Given the description of an element on the screen output the (x, y) to click on. 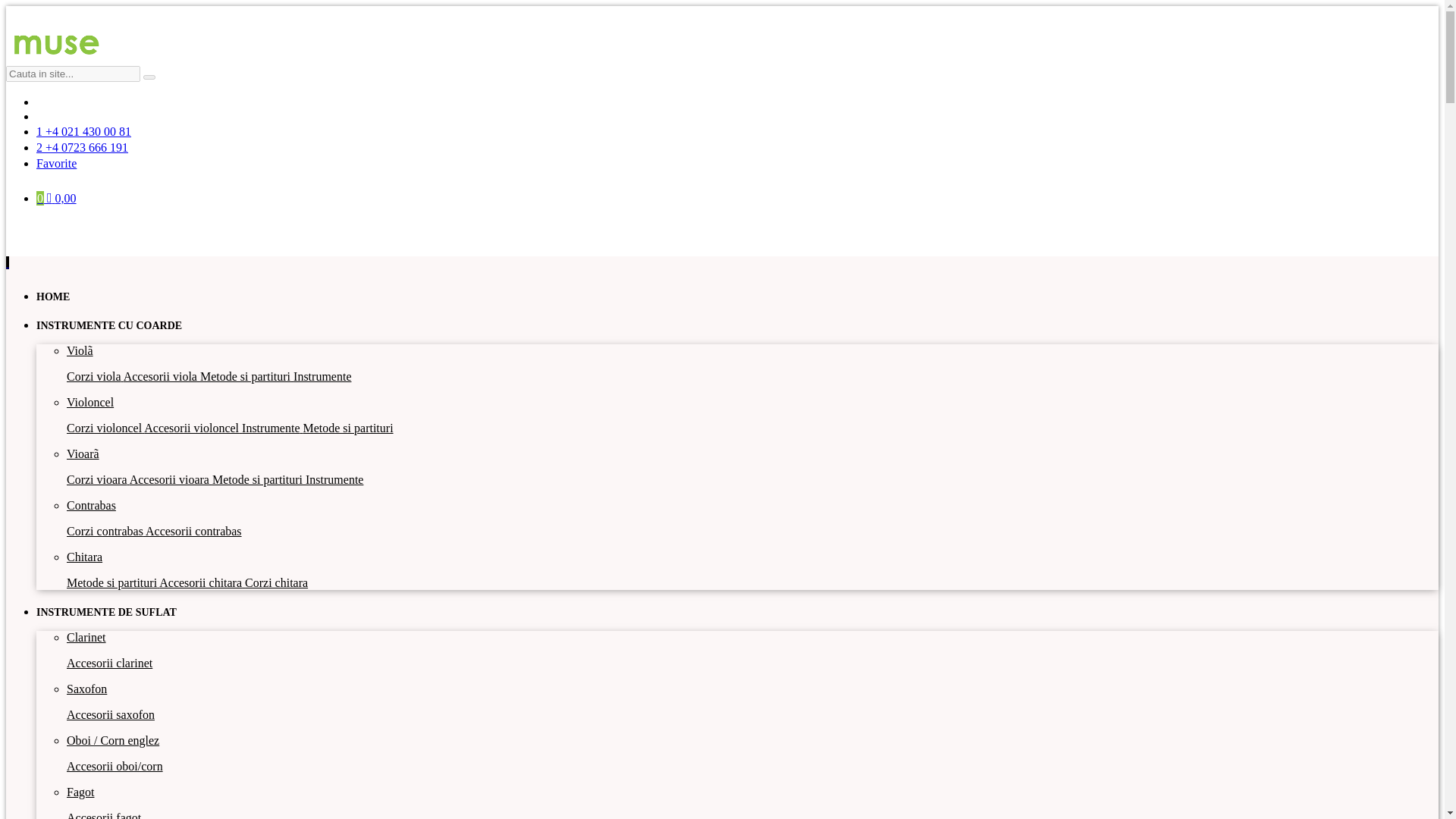
Corzi violoncel (105, 427)
0 0,00 (56, 197)
Accesorii saxofon (110, 714)
HOME (52, 296)
INSTRUMENTE CU COARDE (109, 325)
Contrabas (91, 504)
INSTRUMENTE DE SUFLAT (106, 612)
Corzi viola (94, 376)
Metode si partituri (112, 582)
Metode si partituri (347, 427)
Accesorii vioara (170, 479)
Instrumente (271, 427)
Fagot (80, 791)
Metode si partituri (247, 376)
Accesorii chitara (201, 582)
